Given the description of an element on the screen output the (x, y) to click on. 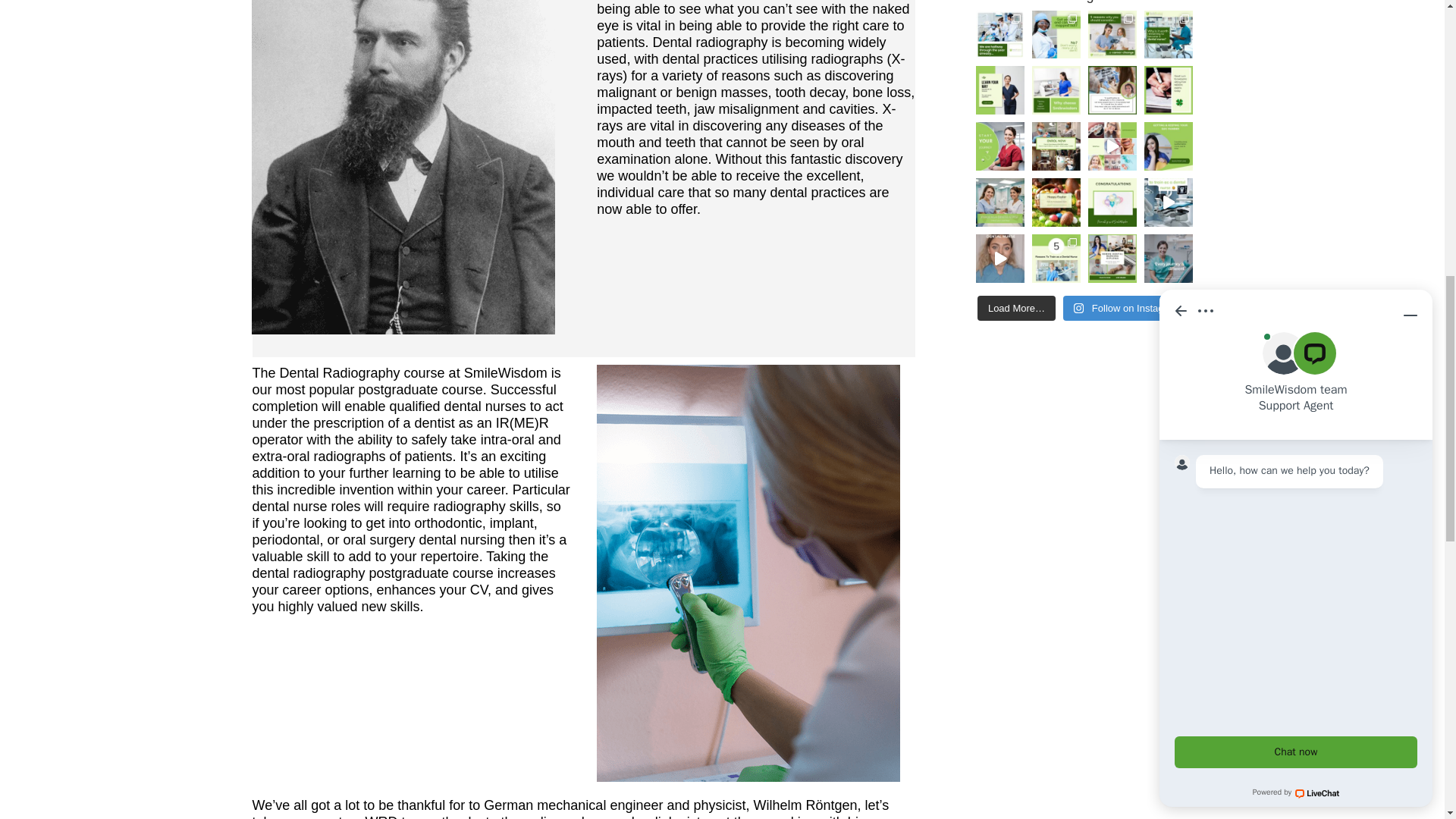
2 (747, 572)
1 (402, 166)
